Given the description of an element on the screen output the (x, y) to click on. 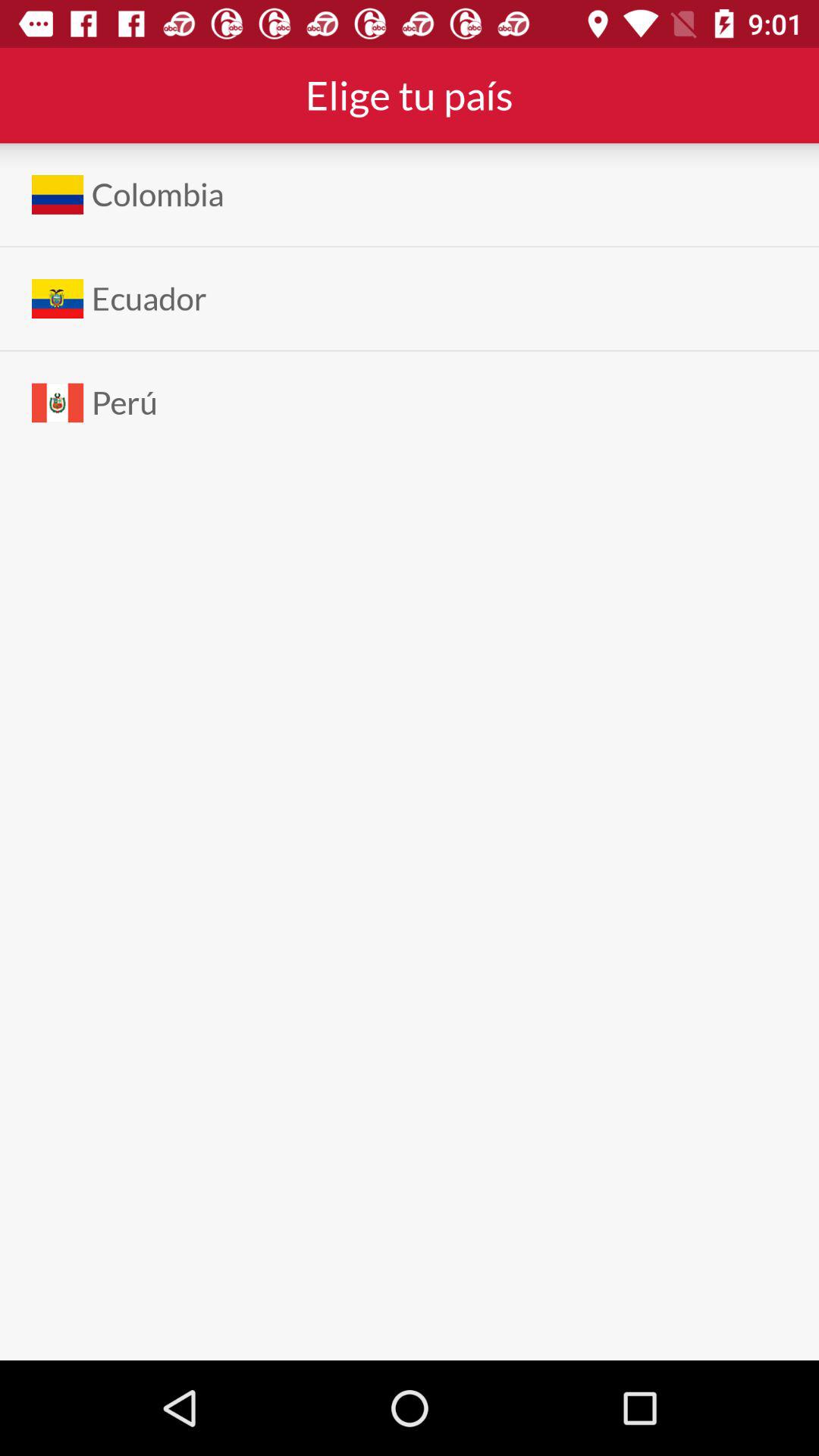
click the ecuador (149, 298)
